Given the description of an element on the screen output the (x, y) to click on. 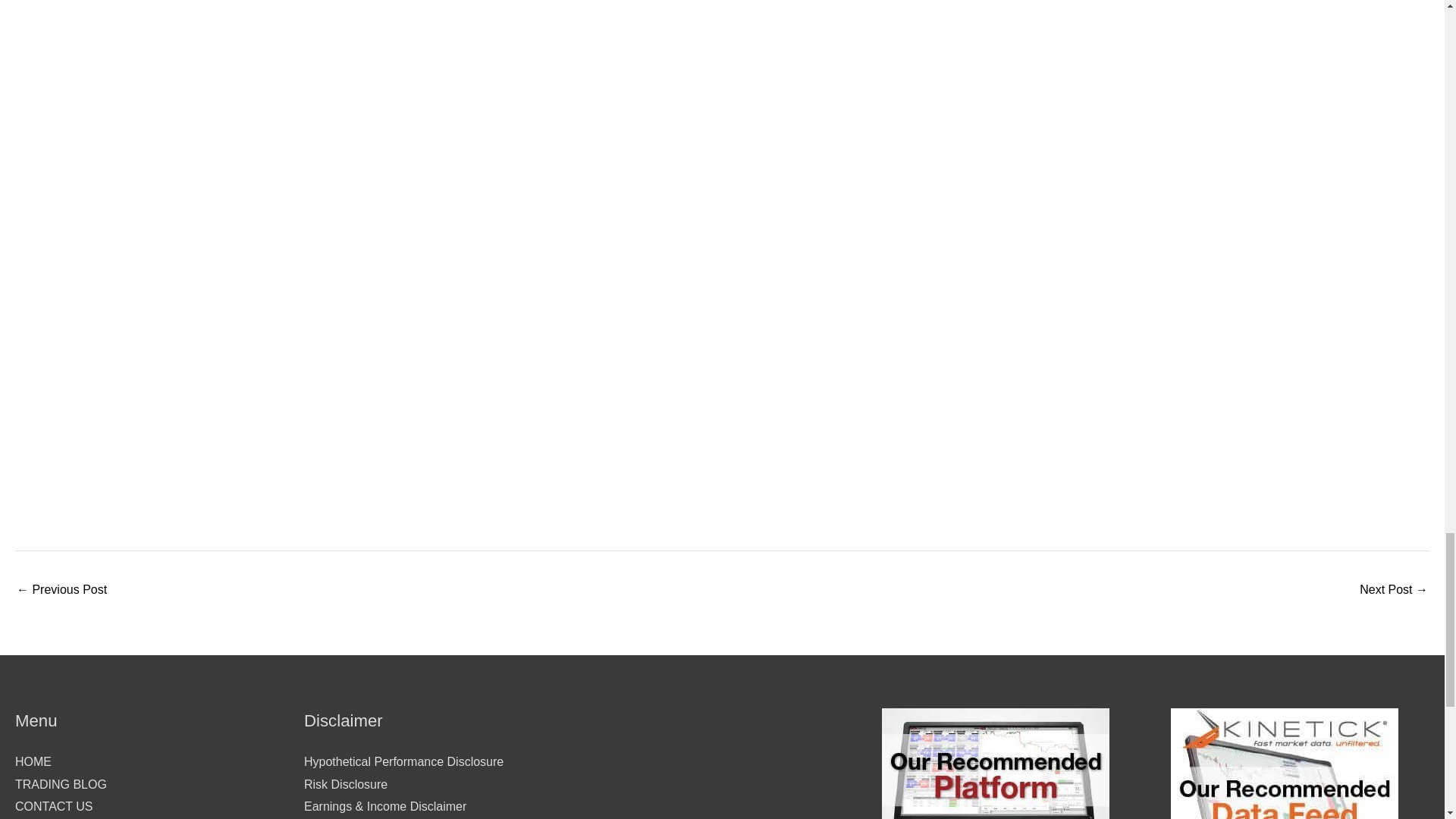
Hypothetical Performance Disclosure (403, 761)
Risk Disclosure (345, 784)
TRADING BLOG (60, 784)
Let's talk about divergence! (61, 591)
Is It Possible To Make Money Trading Against The Trend? (1393, 591)
CONTACT US (53, 806)
HOME (32, 761)
